Given the description of an element on the screen output the (x, y) to click on. 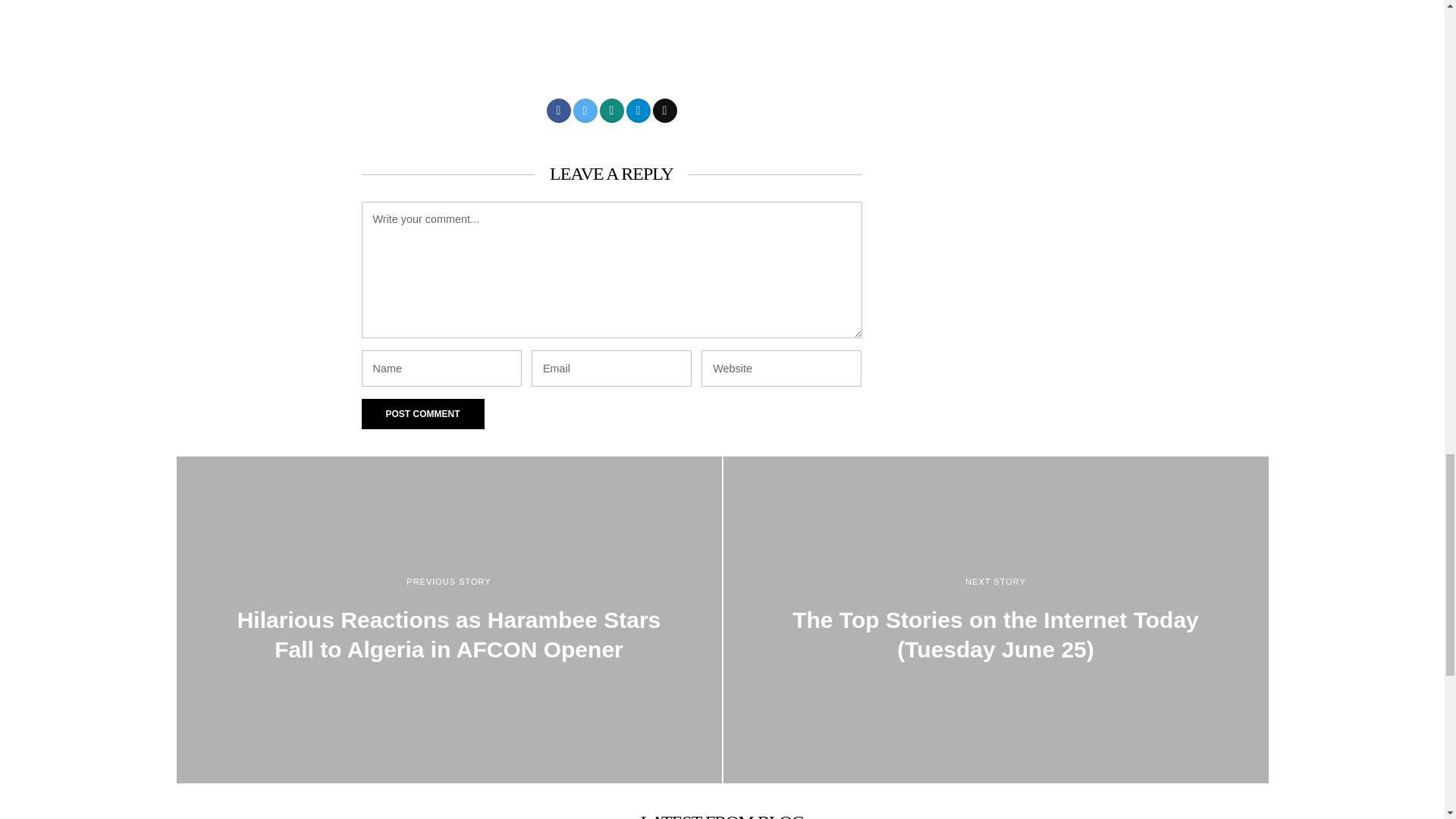
Post Comment (422, 413)
Post Comment (422, 413)
